Given the description of an element on the screen output the (x, y) to click on. 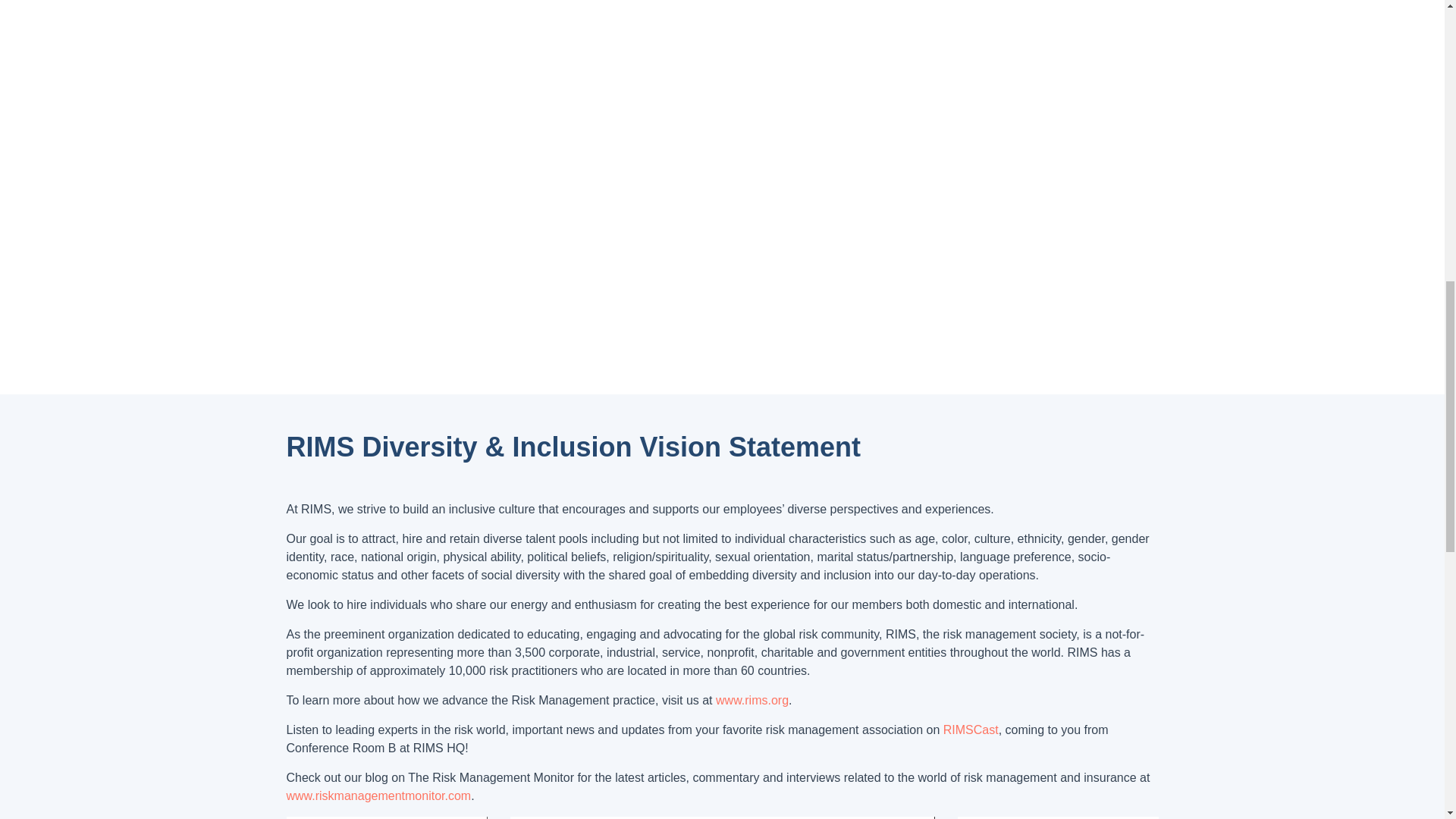
Polygraph (1056, 817)
Polygraph (386, 817)
